Given the description of an element on the screen output the (x, y) to click on. 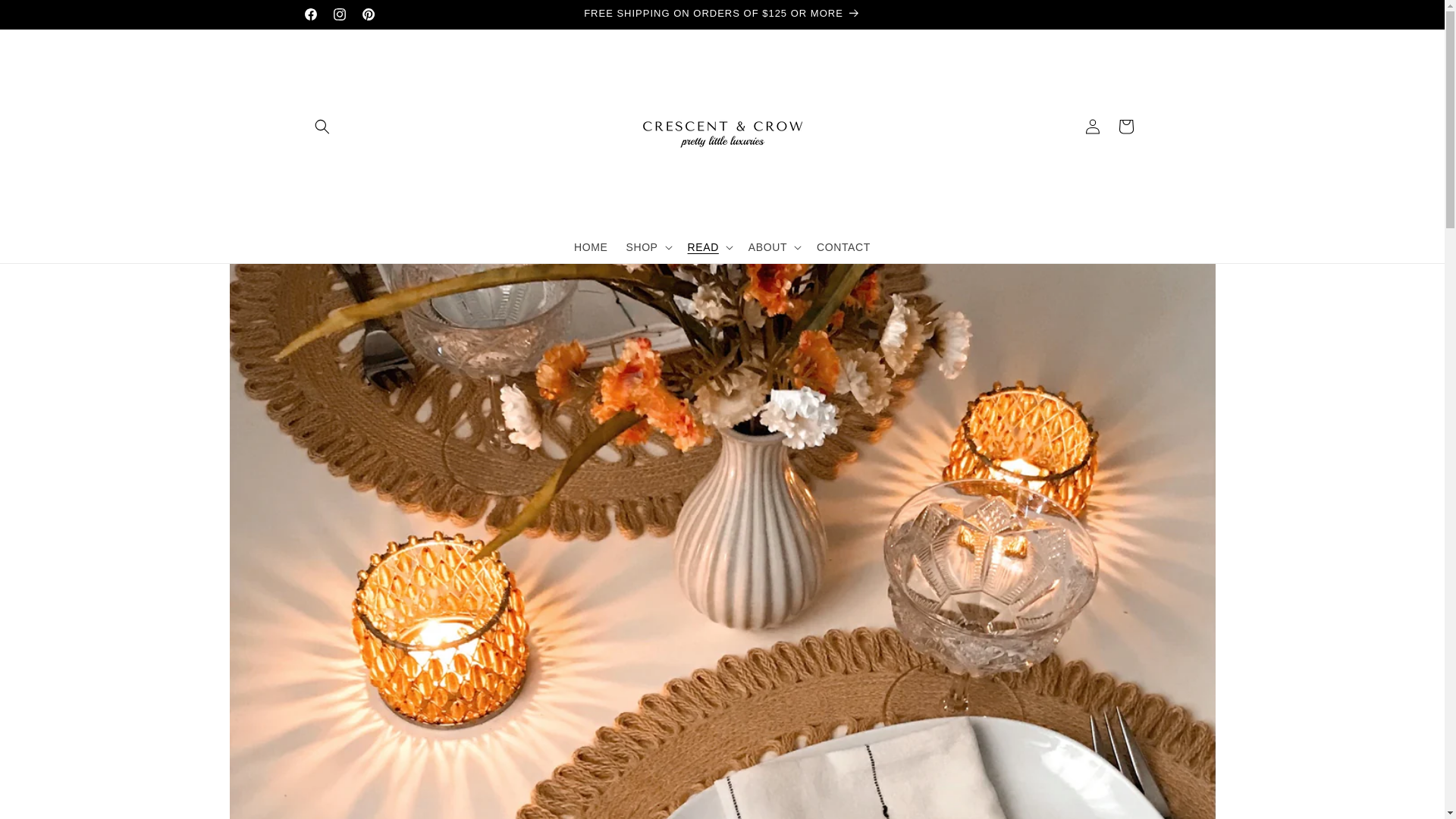
Facebook (309, 14)
Skip to content (45, 17)
HOME (589, 246)
Pinterest (367, 14)
Instagram (338, 14)
